Given the description of an element on the screen output the (x, y) to click on. 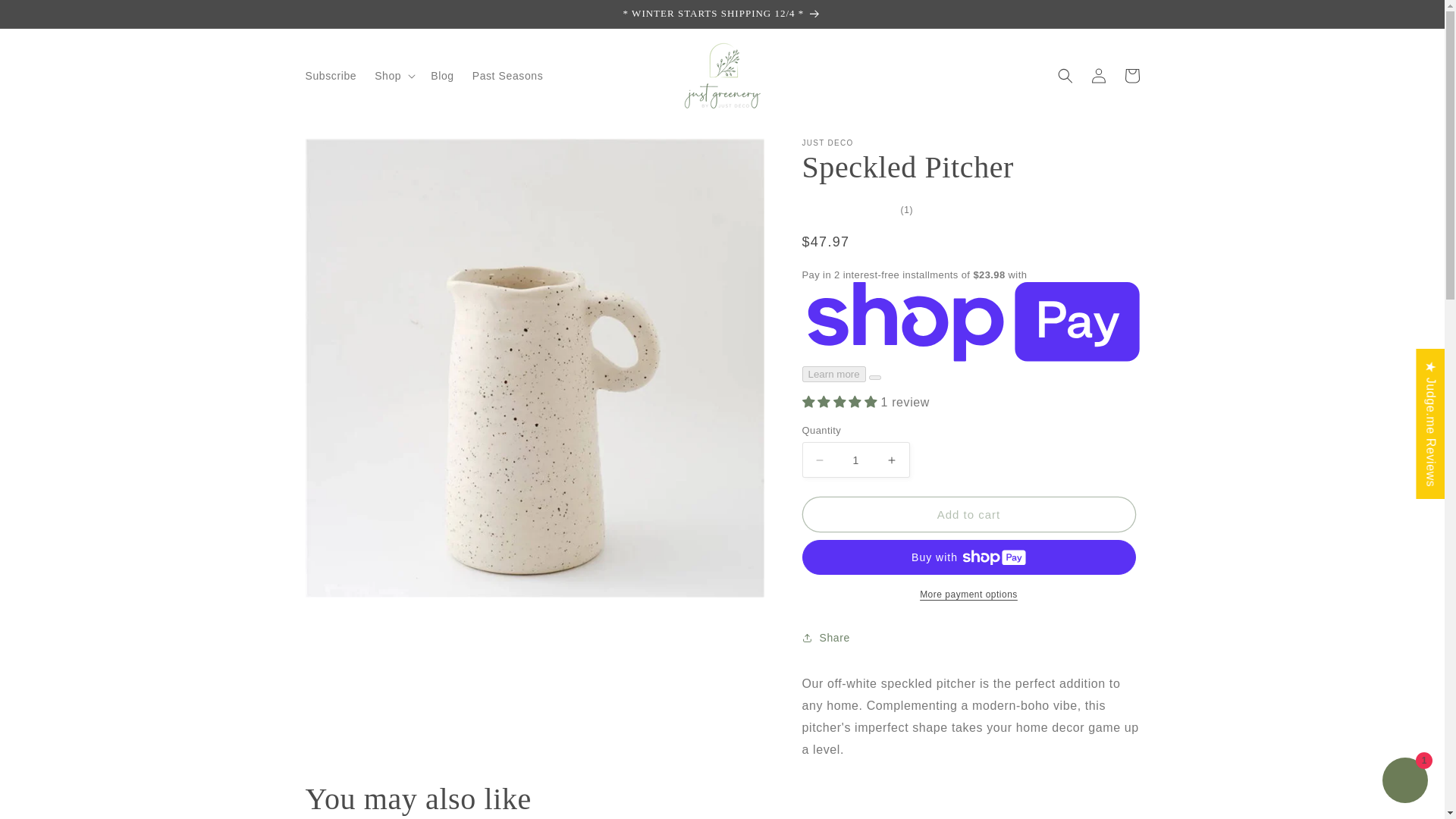
Subscribe (330, 75)
Shopify online store chat (1404, 781)
Decrease quantity for Speckled Pitcher (818, 459)
Add to cart (968, 514)
Past Seasons (508, 75)
Blog (442, 75)
More payment options (968, 594)
Cart (1131, 75)
1 (856, 459)
Skip to product information (350, 155)
Skip to content (45, 17)
Log in (1098, 75)
Increase quantity for Speckled Pitcher (891, 459)
